Given the description of an element on the screen output the (x, y) to click on. 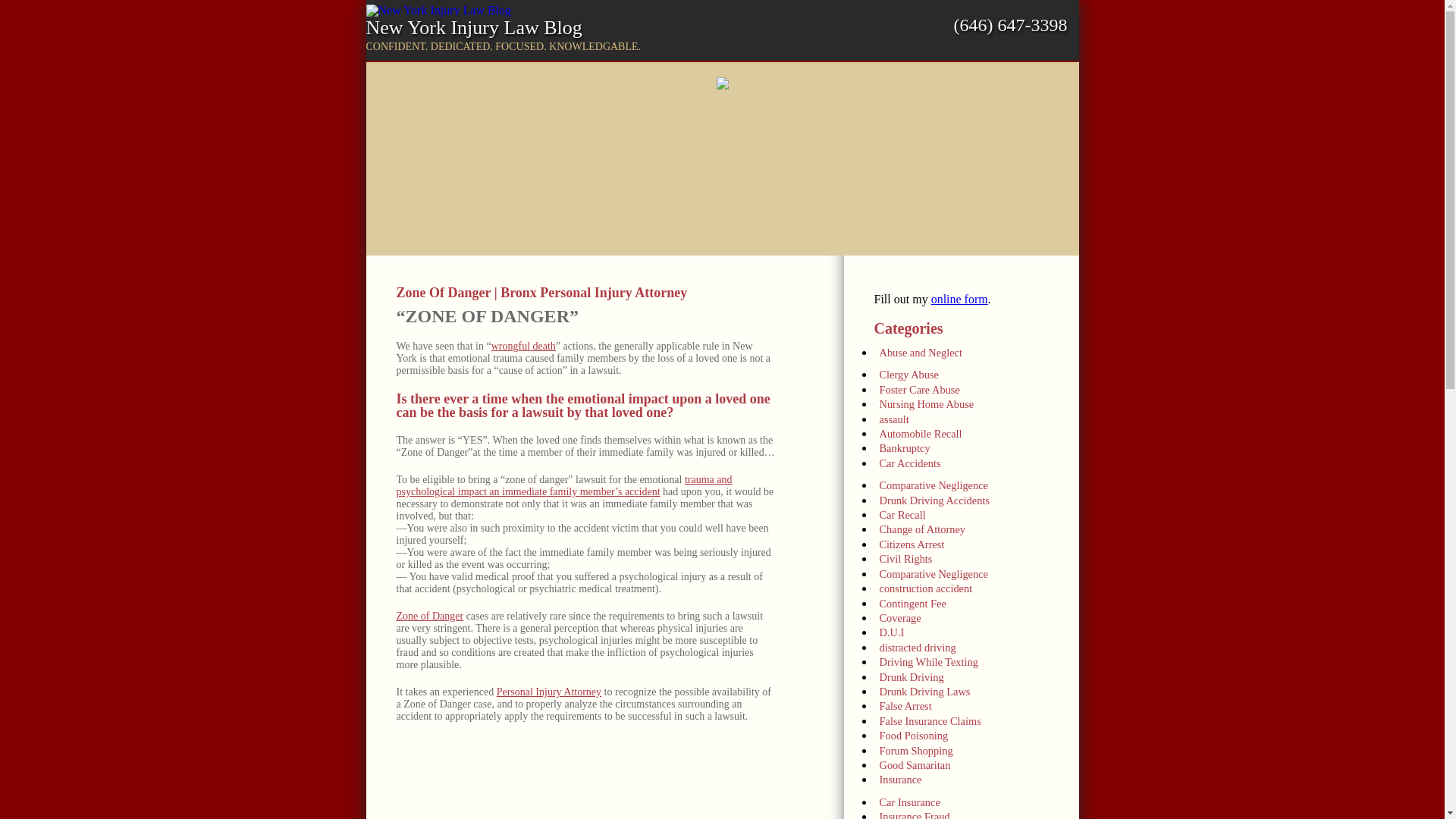
Good Samaritan (964, 762)
Car Insurance (964, 800)
construction accident (964, 586)
Drunk Driving Laws (964, 689)
Forum Shopping (964, 748)
False Insurance Claims (964, 718)
Insurance Fraud (964, 813)
Zone of Danger (429, 615)
Civil Rights (964, 556)
distracted driving (964, 645)
